Given the description of an element on the screen output the (x, y) to click on. 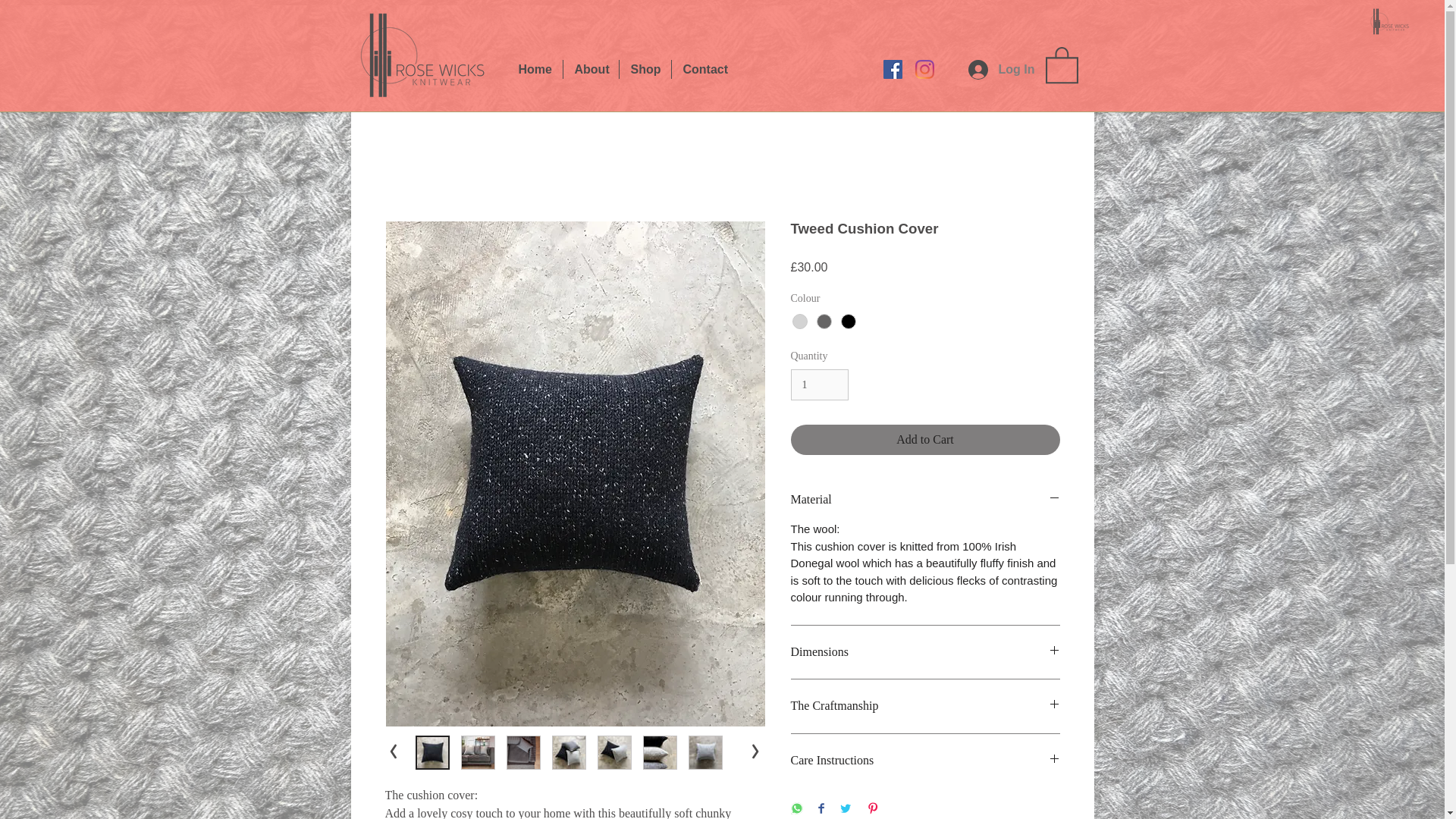
Add to Cart (924, 440)
Material (924, 499)
Shop (643, 68)
The Craftmanship (924, 705)
About (589, 68)
Dimensions (924, 651)
Log In (1001, 69)
Home (534, 68)
Care Instructions (924, 760)
Contact (703, 68)
